Given the description of an element on the screen output the (x, y) to click on. 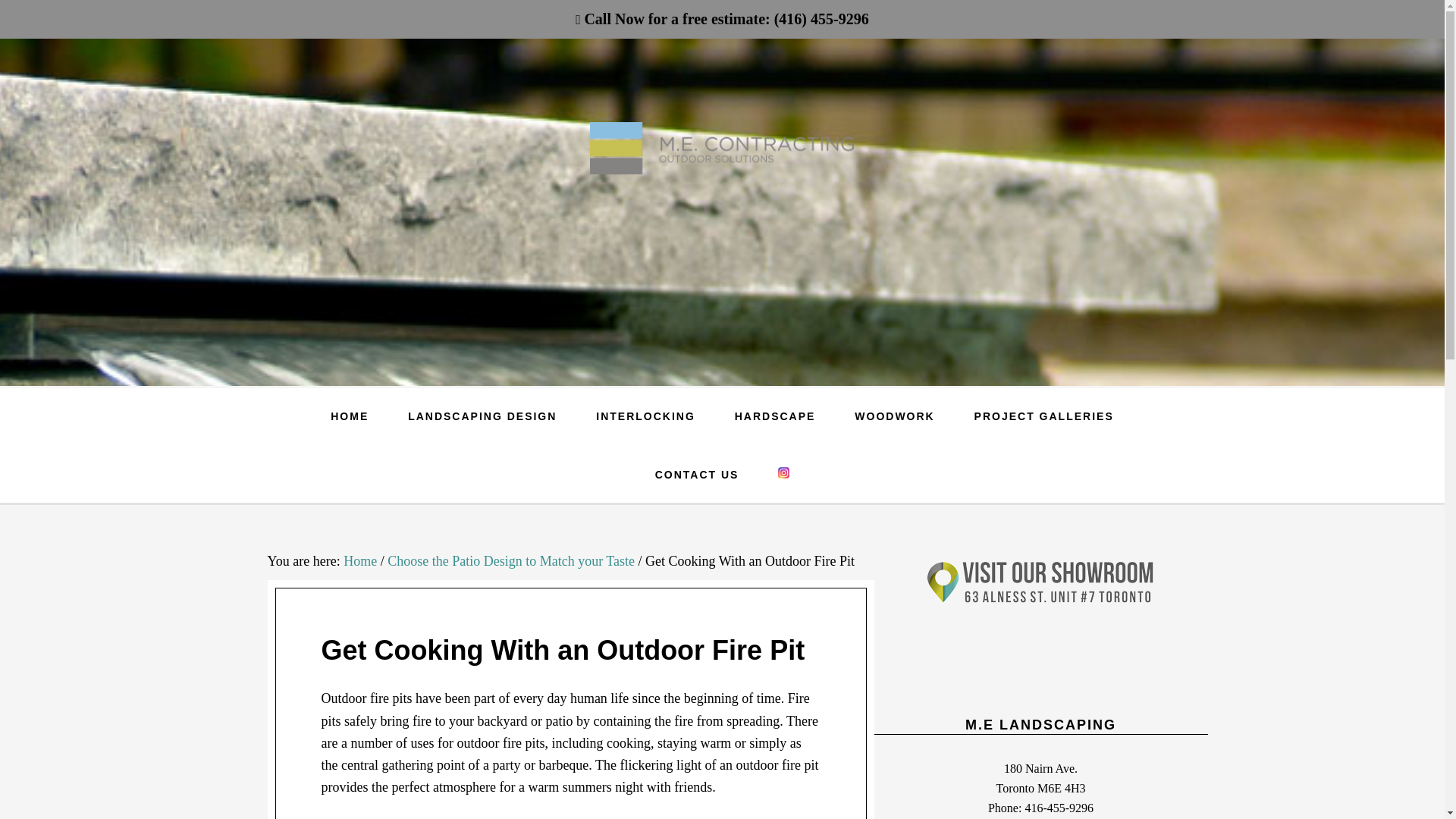
LANDSCAPING DESIGN (482, 416)
Home (360, 560)
PROJECT GALLERIES (1044, 416)
HARDSCAPE (775, 416)
INTERLOCKING (645, 416)
Choose the Patio Design to Match your Taste (510, 560)
CONTACT US (697, 474)
WOODWORK (893, 416)
HOME (350, 416)
